Given the description of an element on the screen output the (x, y) to click on. 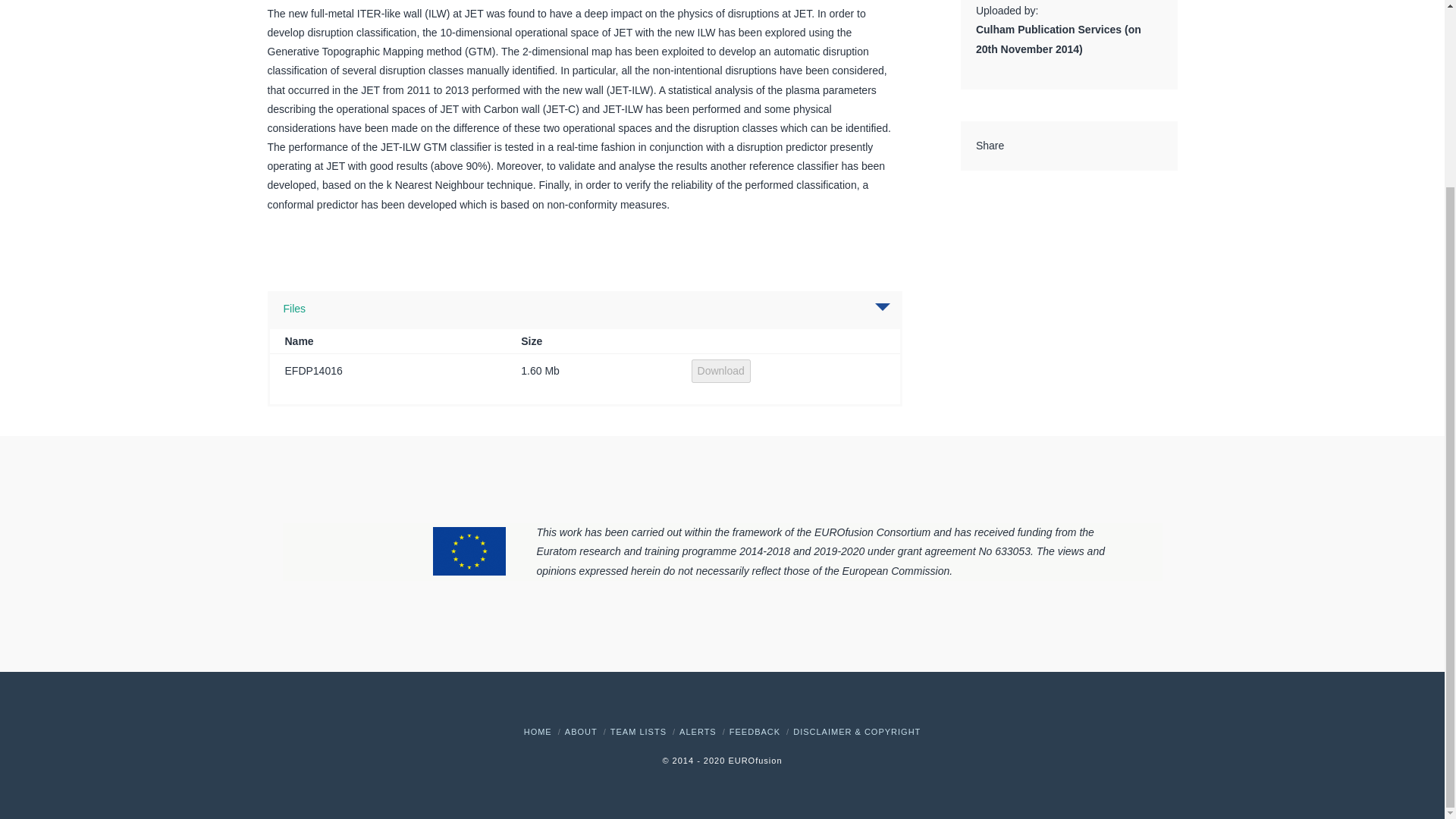
Download (721, 371)
Files (294, 308)
ABOUT (580, 731)
Download (721, 370)
FEEDBACK (754, 731)
HOME (537, 731)
TEAM LISTS (638, 731)
ALERTS (697, 731)
